Given the description of an element on the screen output the (x, y) to click on. 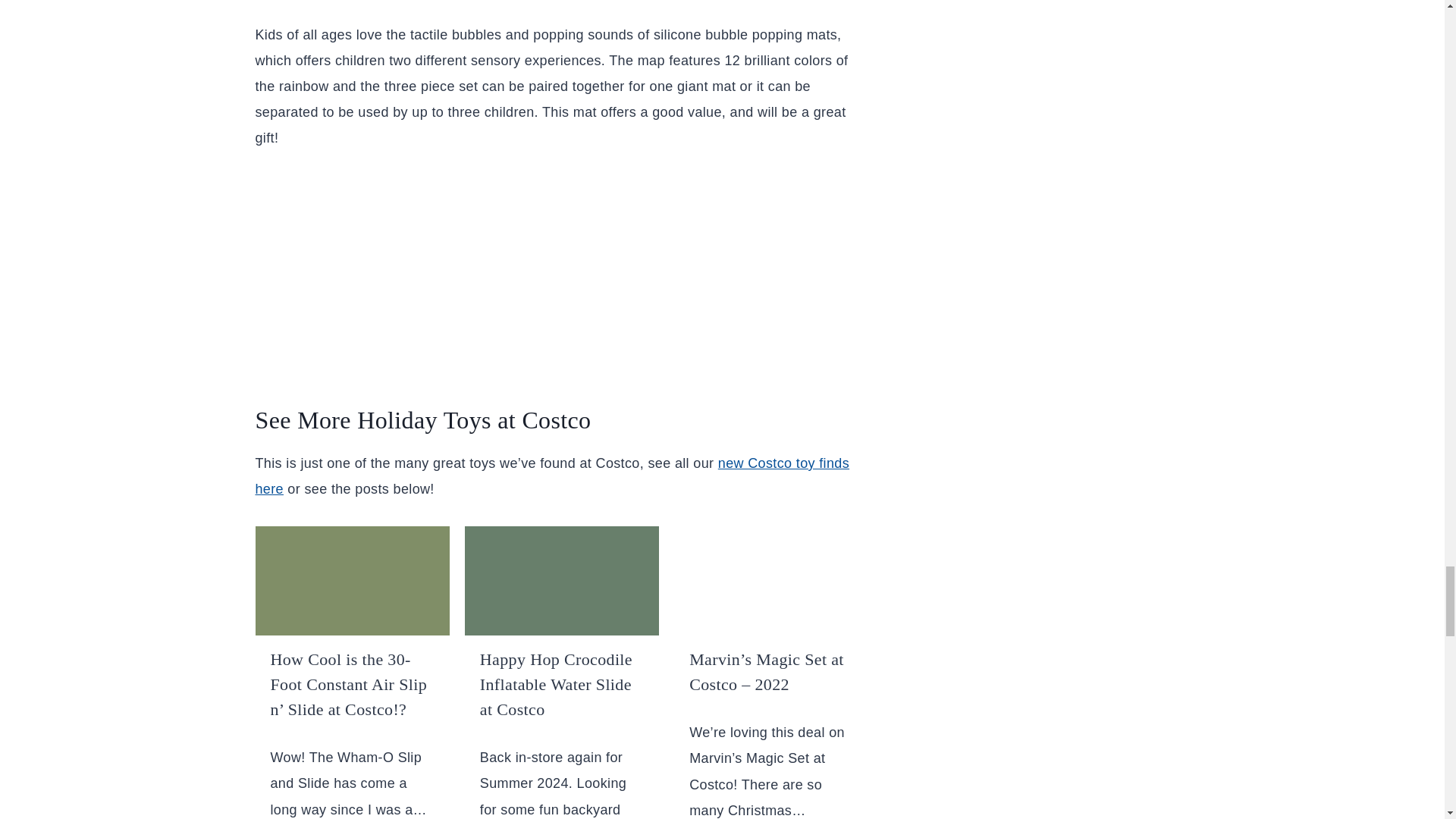
Ker-Pops Super Jumbo Bubble Sensory Mat at Costco 5 (351, 580)
Ker-Pops Super Jumbo Bubble Sensory Mat at Costco 6 (561, 580)
Ker-Pops Super Jumbo Bubble Sensory Mat at Costco 7 (770, 580)
